Given the description of an element on the screen output the (x, y) to click on. 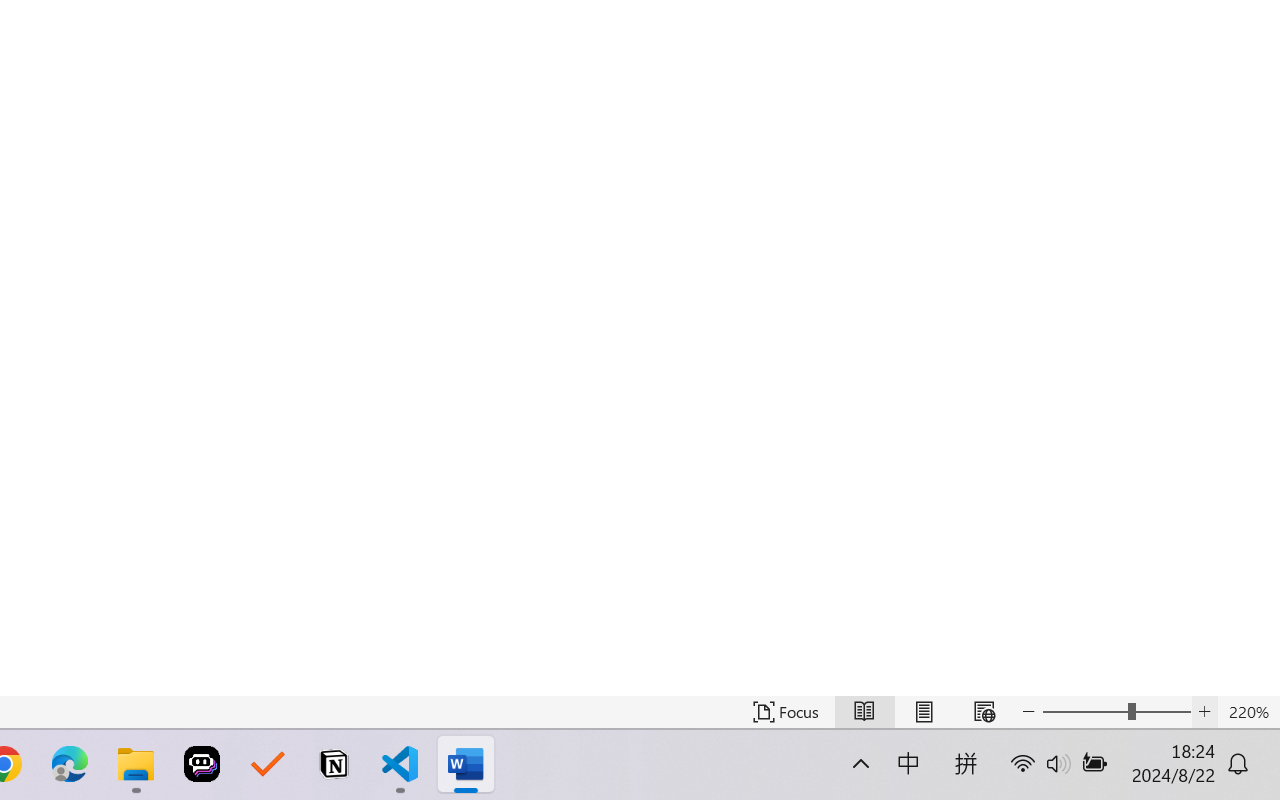
Text Size (1116, 712)
Decrease Text Size (1028, 712)
Increase Text Size (1204, 712)
